Given the description of an element on the screen output the (x, y) to click on. 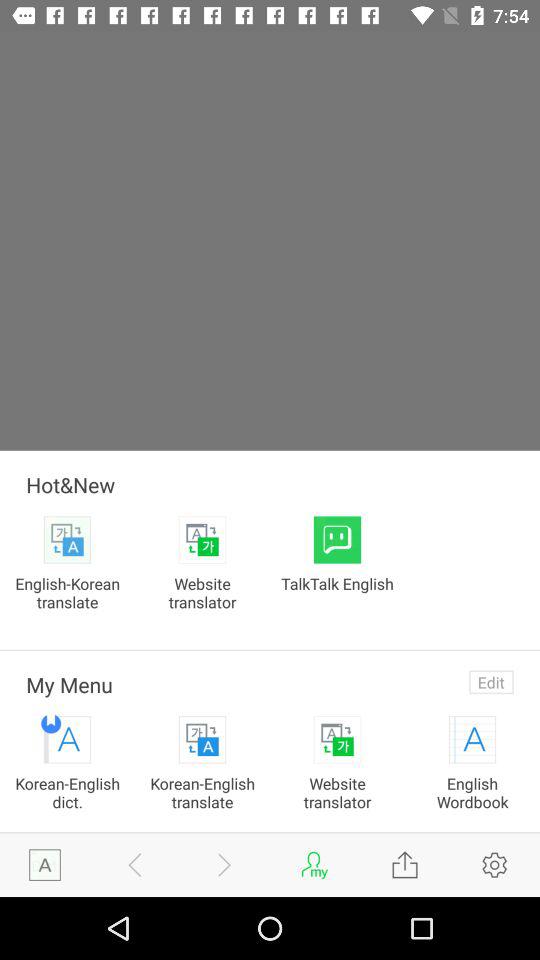
turn on item next to the my menu (491, 682)
